Given the description of an element on the screen output the (x, y) to click on. 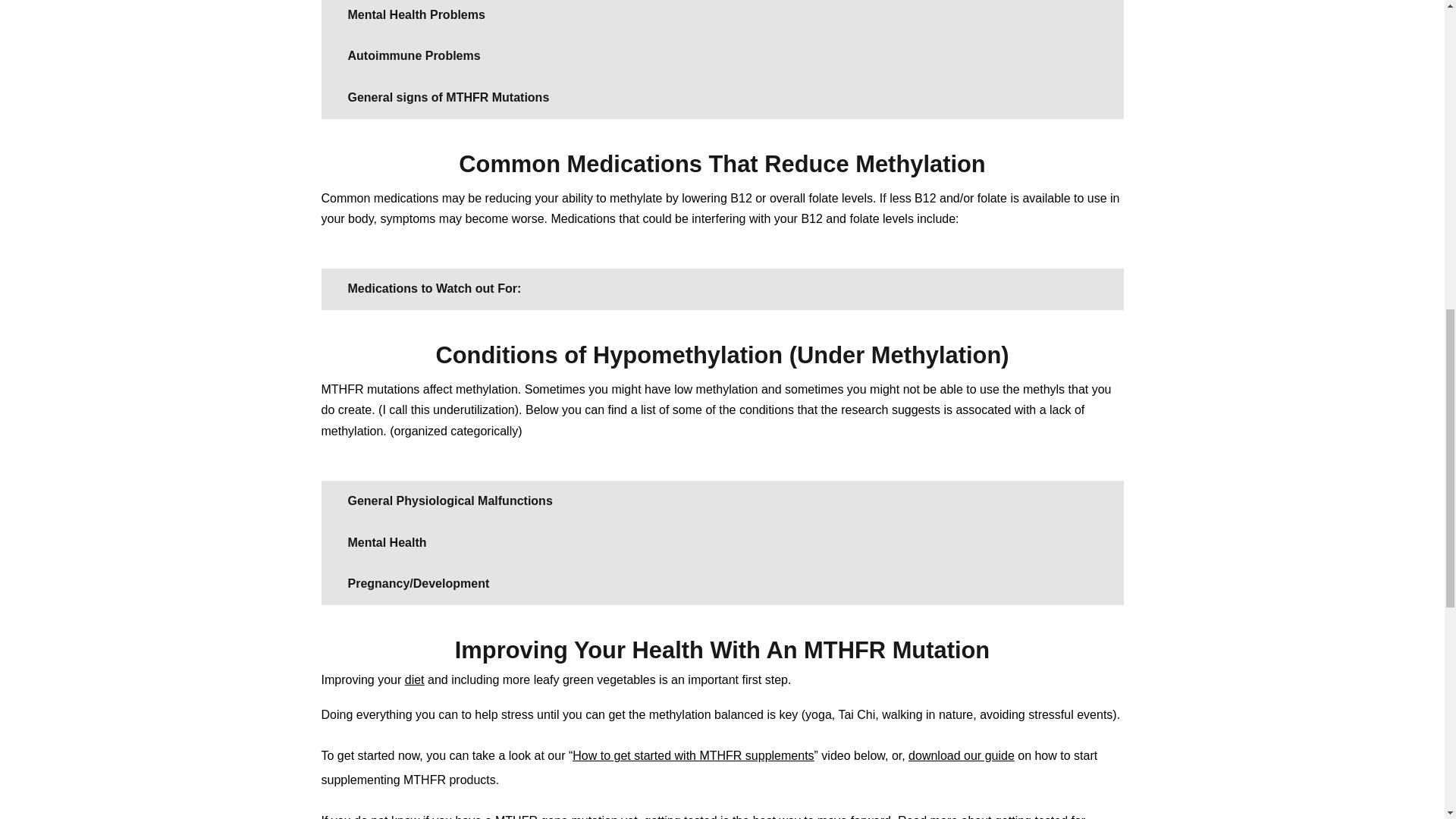
How to get started with MTHFR supplements (692, 755)
diet (414, 679)
download our guide (961, 755)
